Given the description of an element on the screen output the (x, y) to click on. 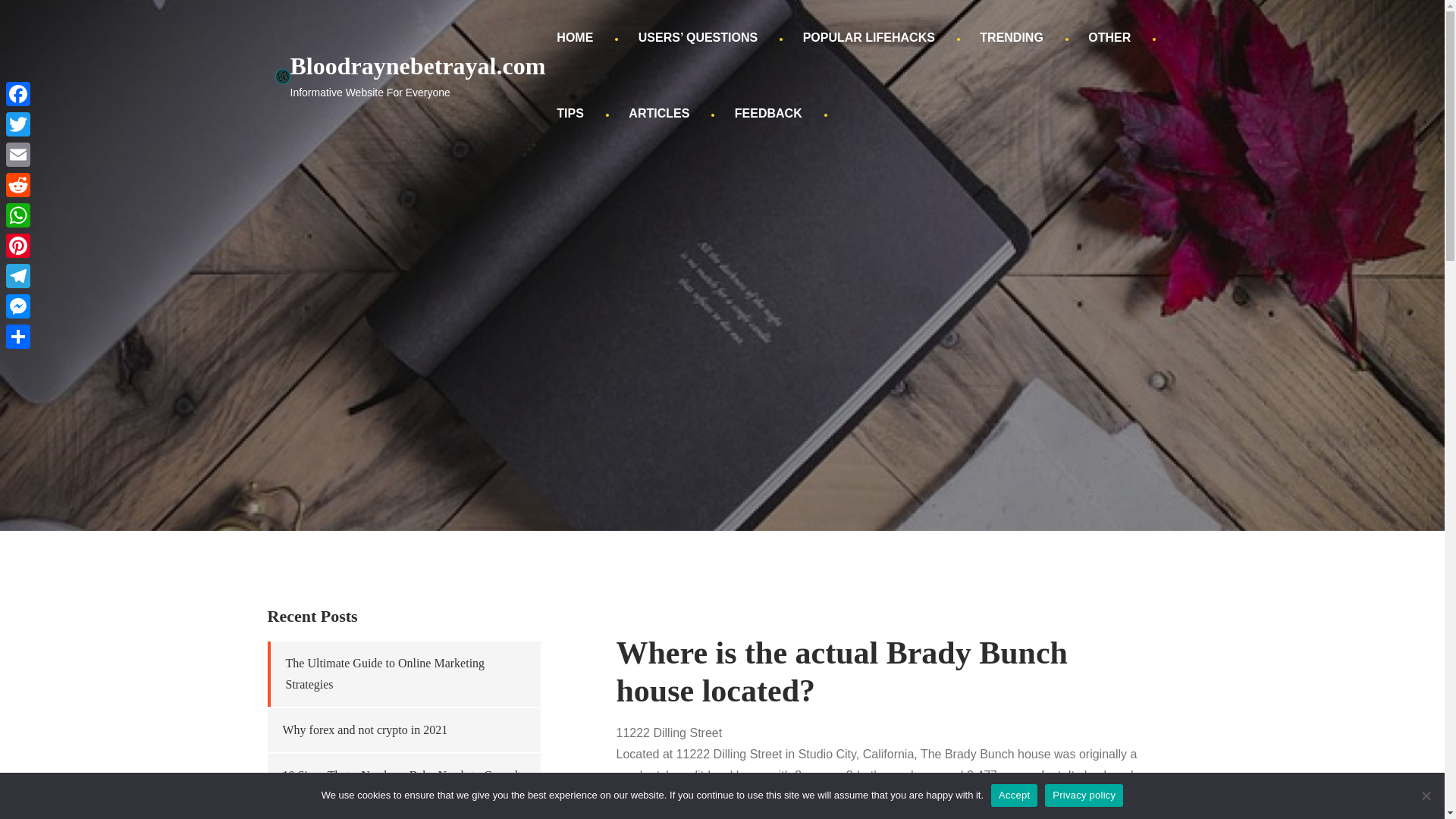
Facebook (17, 93)
The Ultimate Guide to Online Marketing Strategies (384, 673)
10 Signs That a Newborn Baby Needs to Consult a Doctor (401, 786)
Why forex and not crypto in 2021 (364, 729)
ARTICLES (658, 113)
Email (17, 154)
WhatsApp (17, 214)
Telegram (17, 276)
Bloodraynebetrayal.com (416, 65)
Reddit (17, 184)
Twitter (17, 123)
POPULAR LIFEHACKS (869, 38)
FEEDBACK (768, 113)
Messenger (17, 306)
TRENDING (1011, 38)
